Given the description of an element on the screen output the (x, y) to click on. 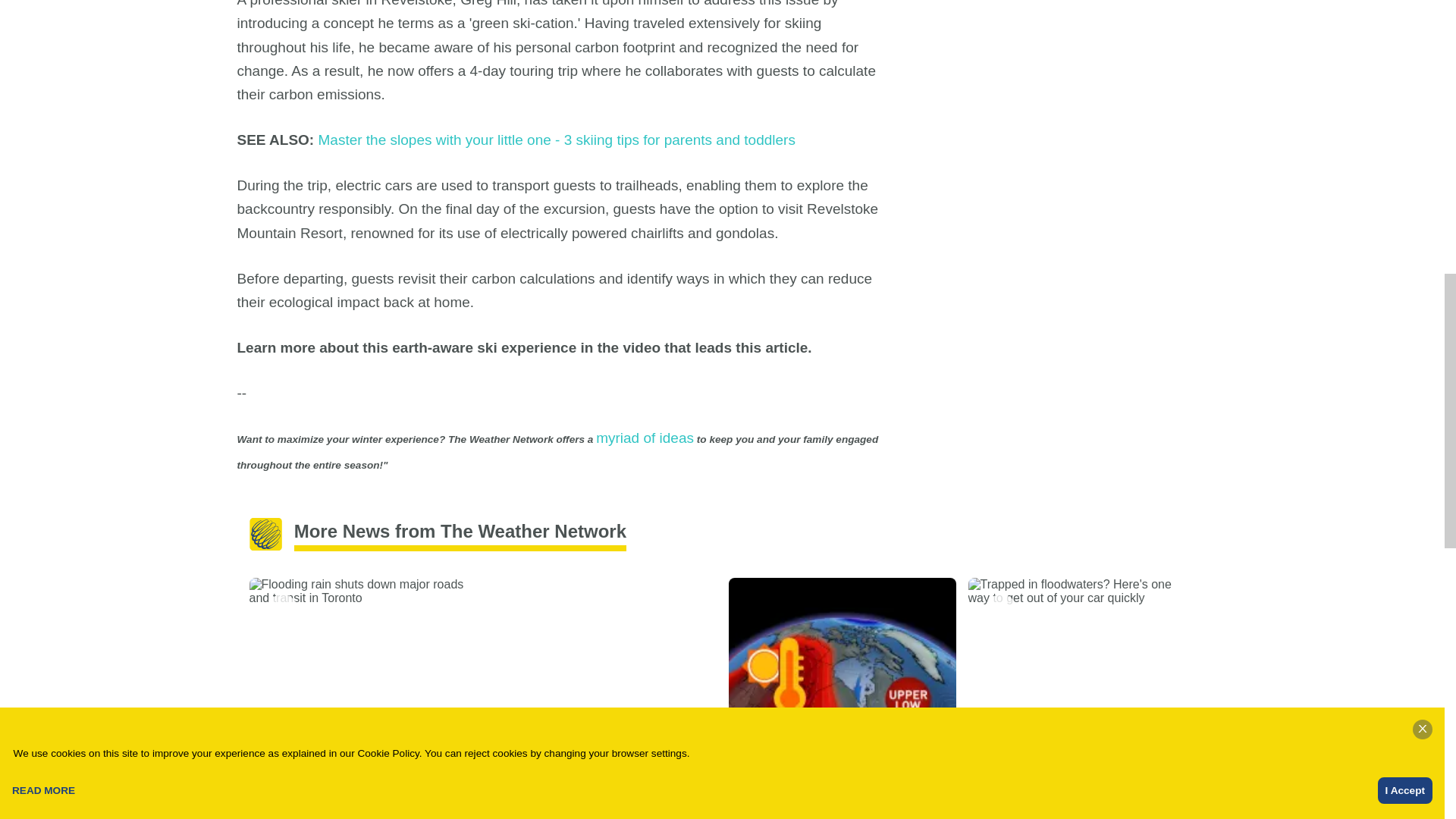
myriad of ideas (644, 437)
Flooding rain shuts down major roads and transit in Toronto (362, 683)
